Given the description of an element on the screen output the (x, y) to click on. 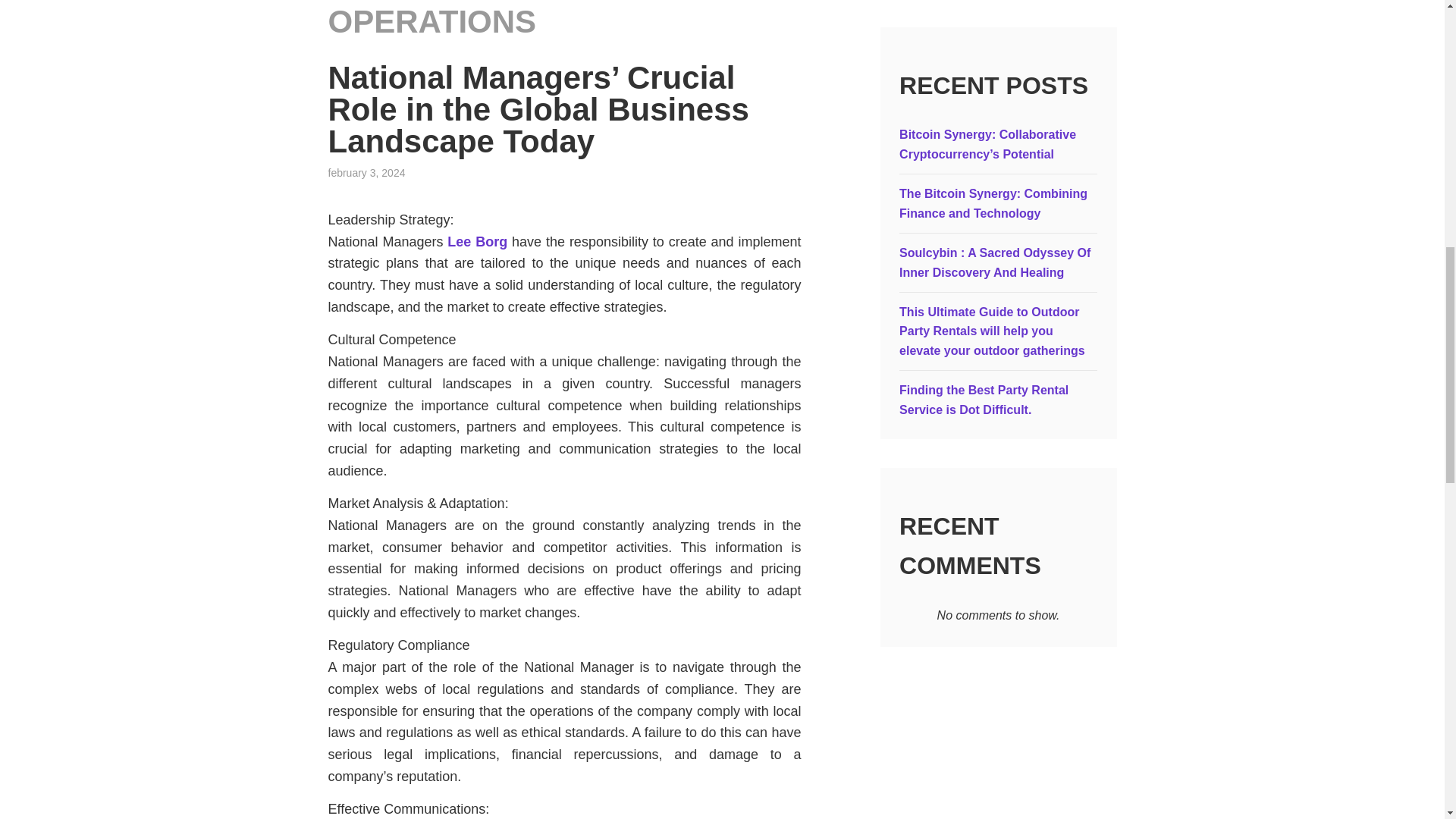
Soulcybin : A Sacred Odyssey Of Inner Discovery And Healing (994, 262)
Lee Borg (476, 241)
february 3, 2024 (365, 173)
The Bitcoin Synergy: Combining Finance and Technology (993, 203)
Finding the Best Party Rental Service is Dot Difficult. (983, 400)
